Given the description of an element on the screen output the (x, y) to click on. 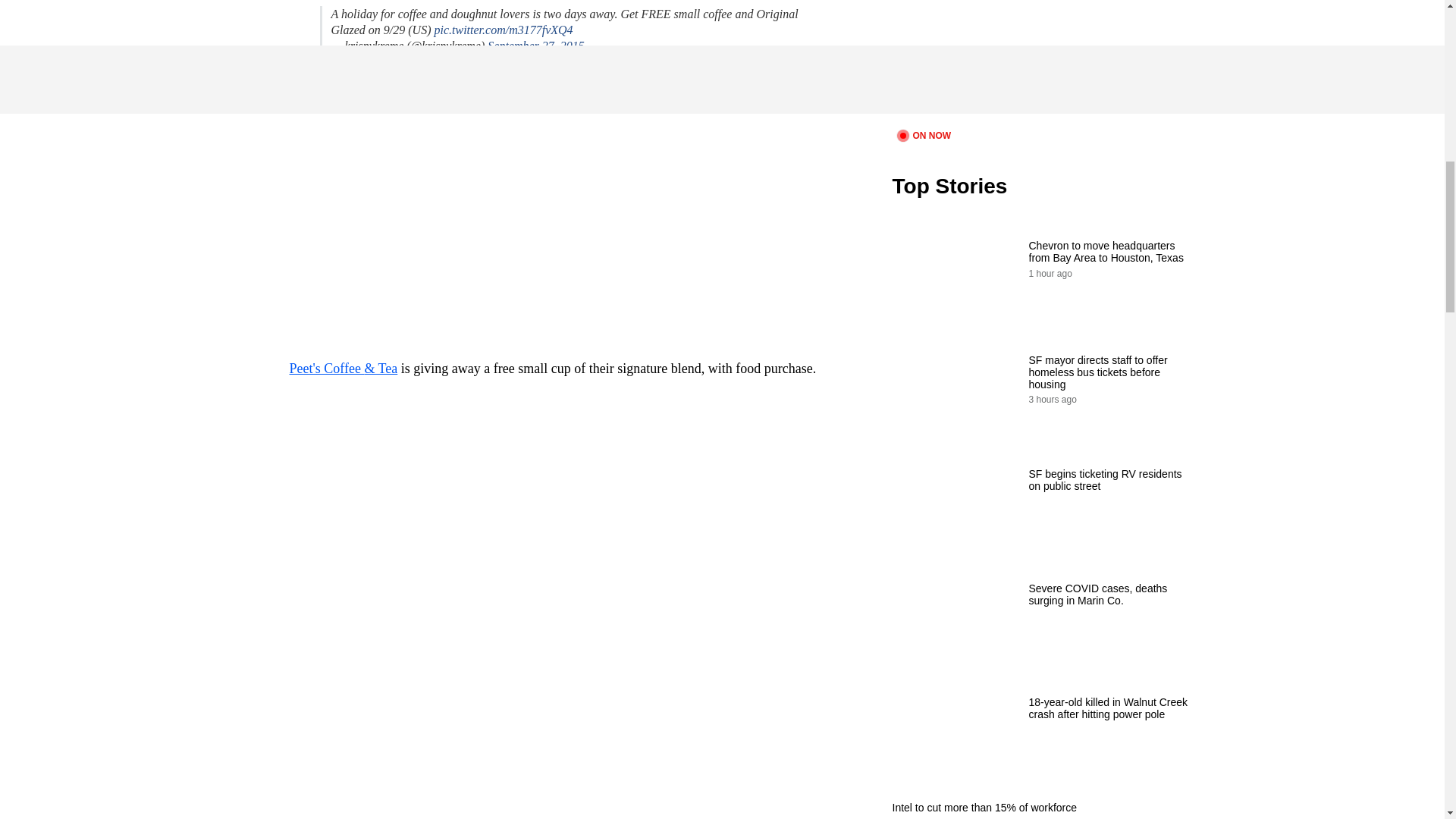
video.title (1043, 62)
